Given the description of an element on the screen output the (x, y) to click on. 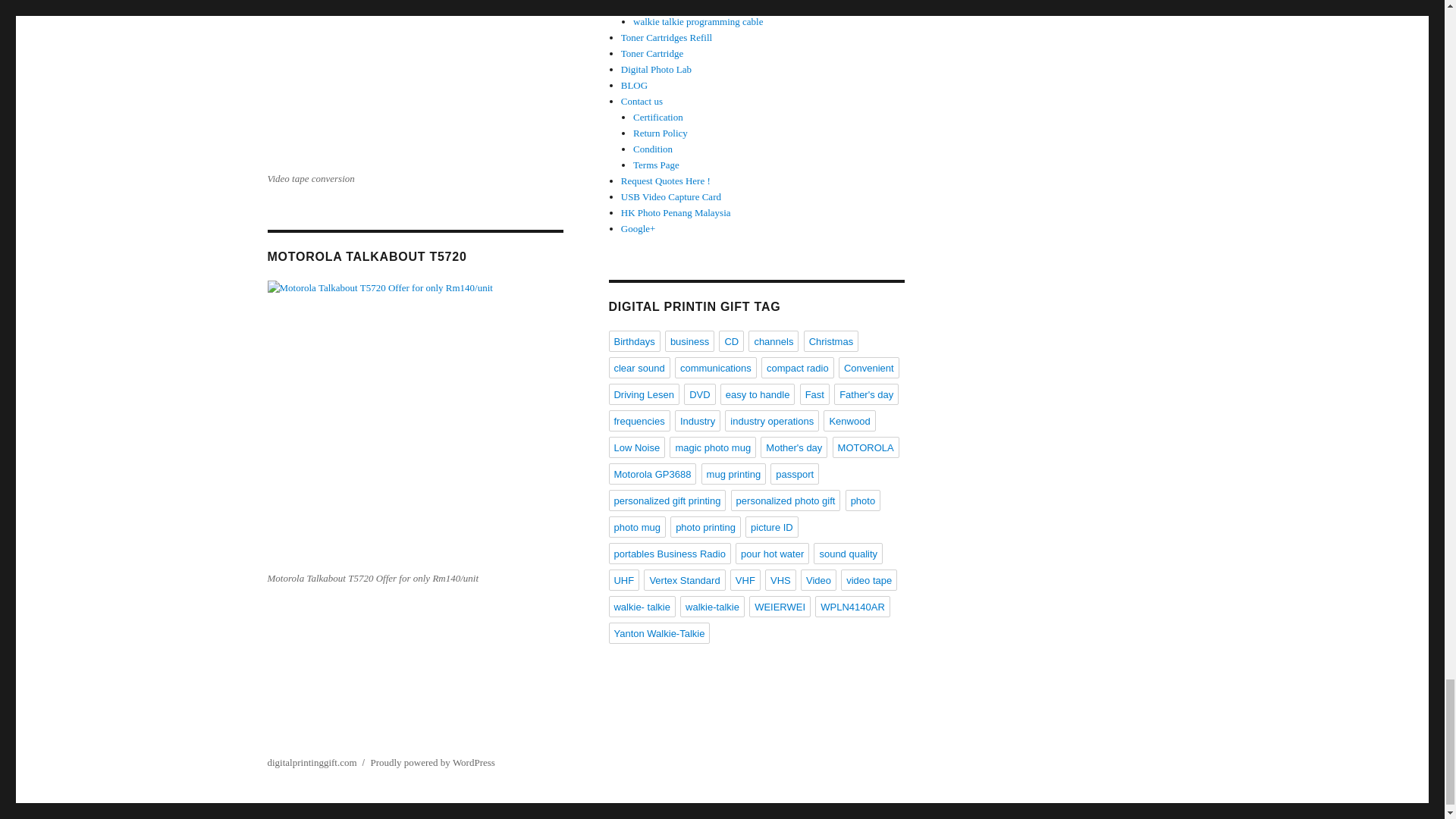
Motorola Talkabout T5720 (380, 422)
Video tape conversion  (361, 83)
